Given the description of an element on the screen output the (x, y) to click on. 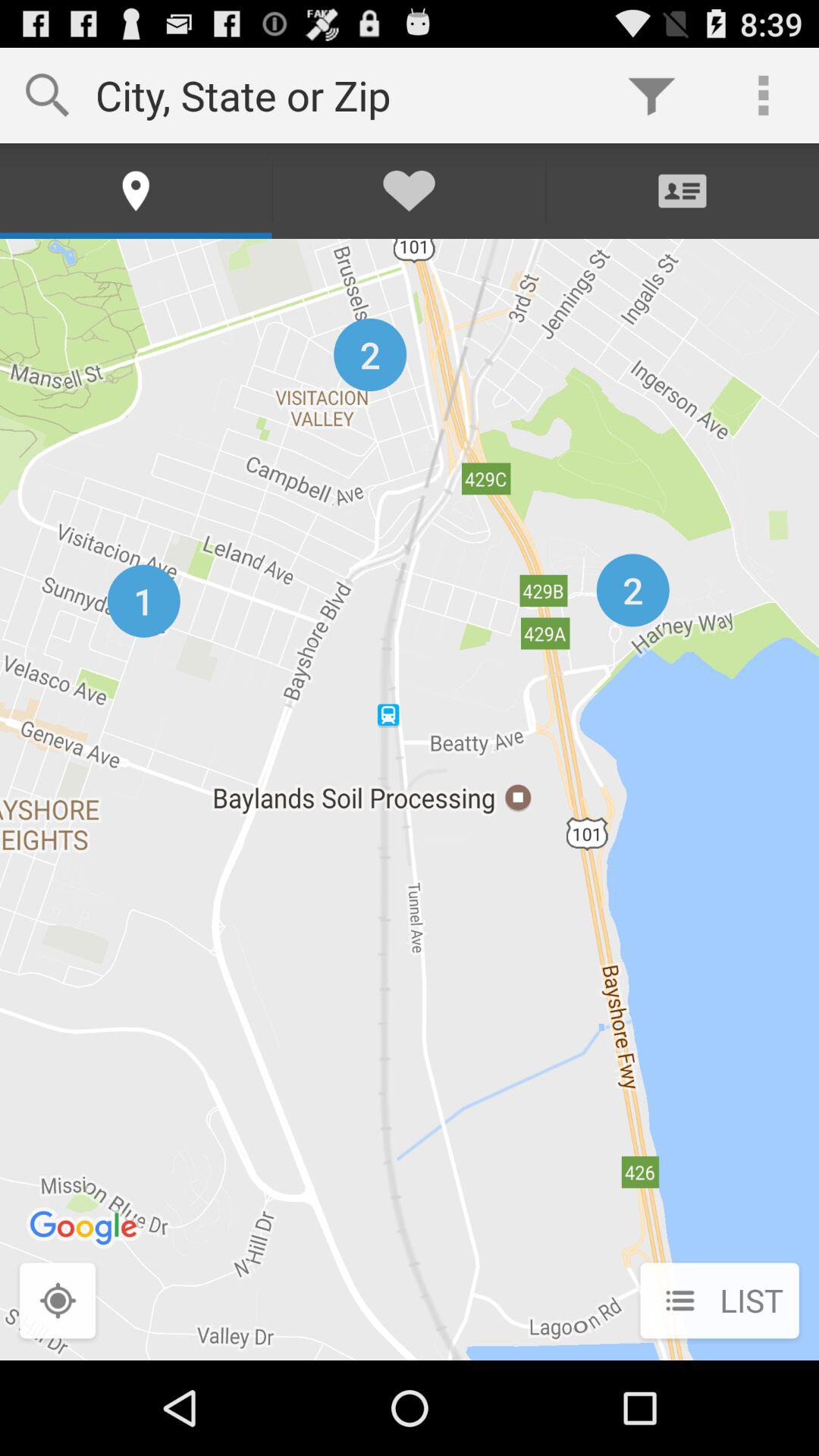
swipe to the list icon (719, 1302)
